Given the description of an element on the screen output the (x, y) to click on. 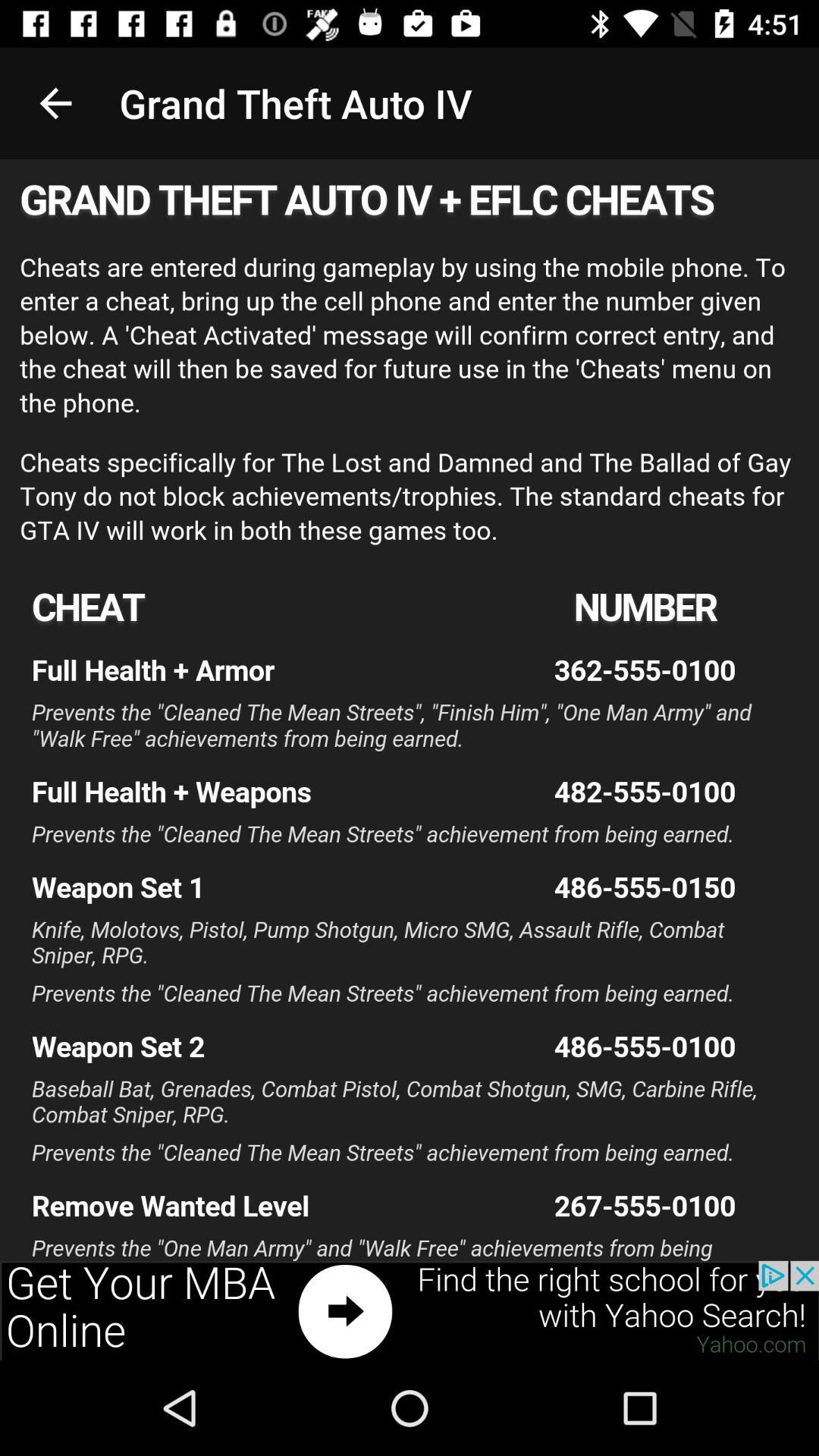
visit advertisement (409, 1310)
